Given the description of an element on the screen output the (x, y) to click on. 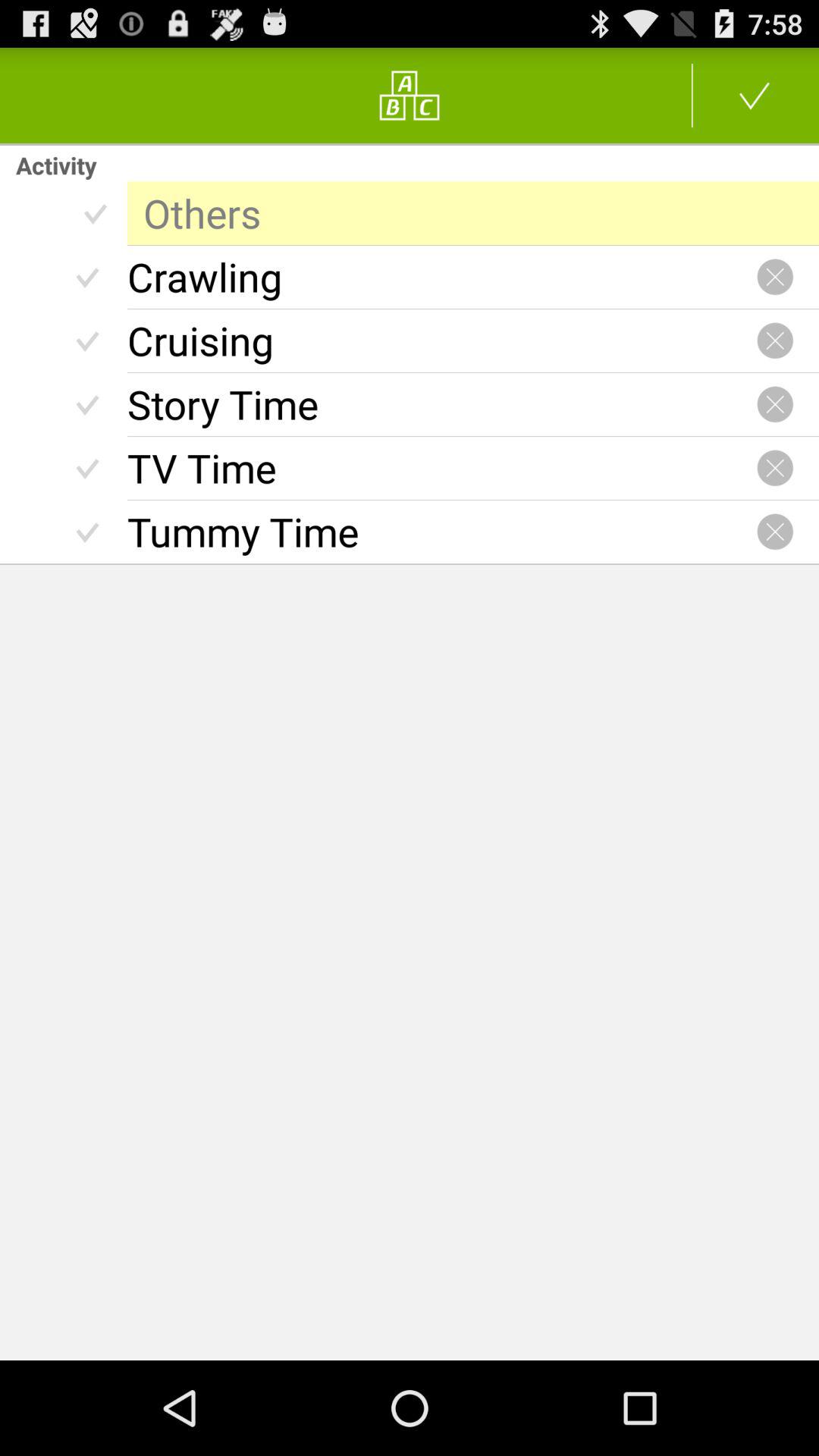
swipe to crawling item (441, 276)
